Given the description of an element on the screen output the (x, y) to click on. 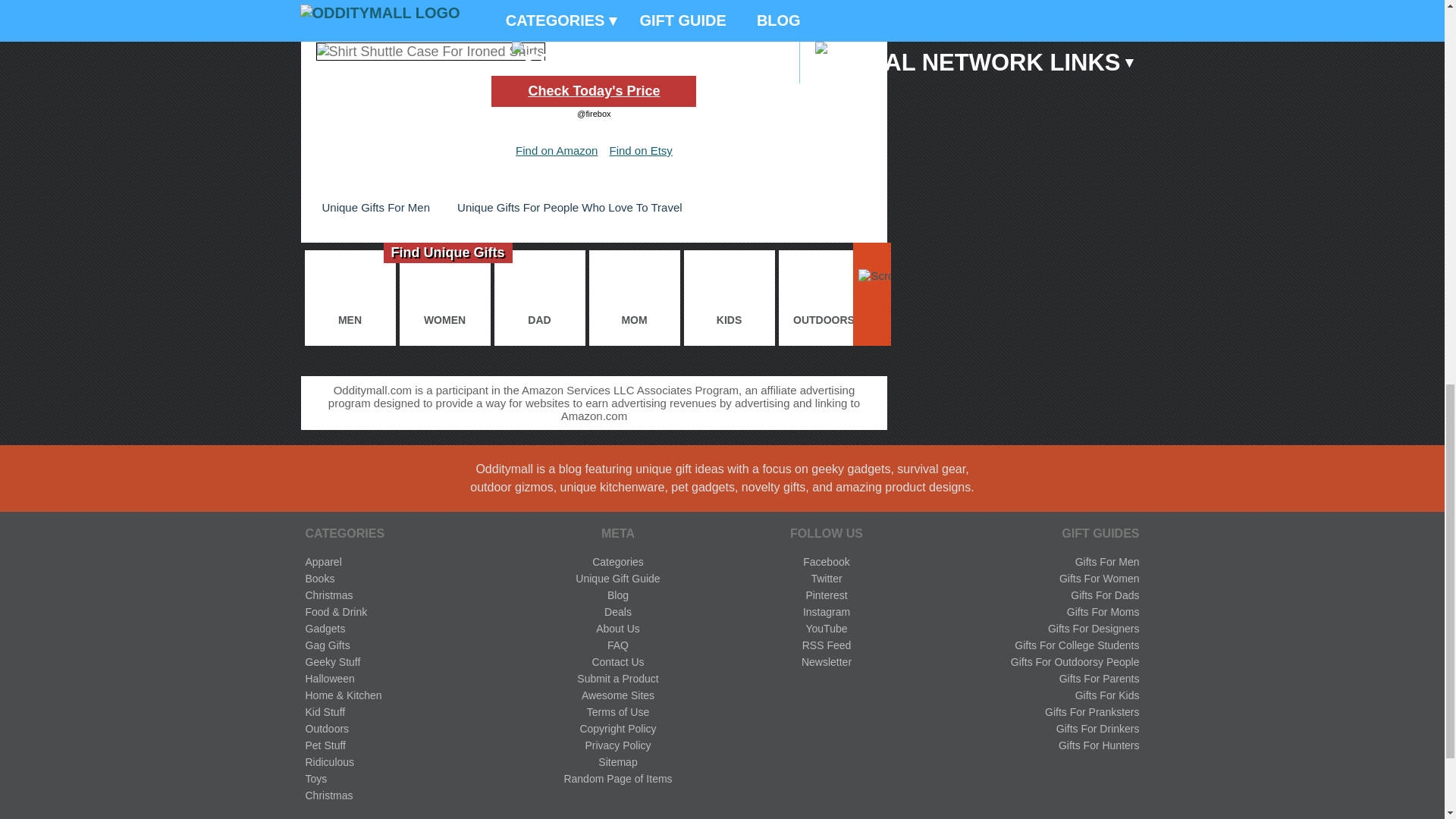
Unique Gifts For Men (375, 207)
Unique Gifts For People Who Love To Travel (569, 207)
Find on Amazon (555, 150)
Check Today's Price (593, 91)
Unique Gifts For Men (375, 207)
Unique Gifts For People Who Love To Travel (569, 207)
Find on Etsy (639, 150)
